Given the description of an element on the screen output the (x, y) to click on. 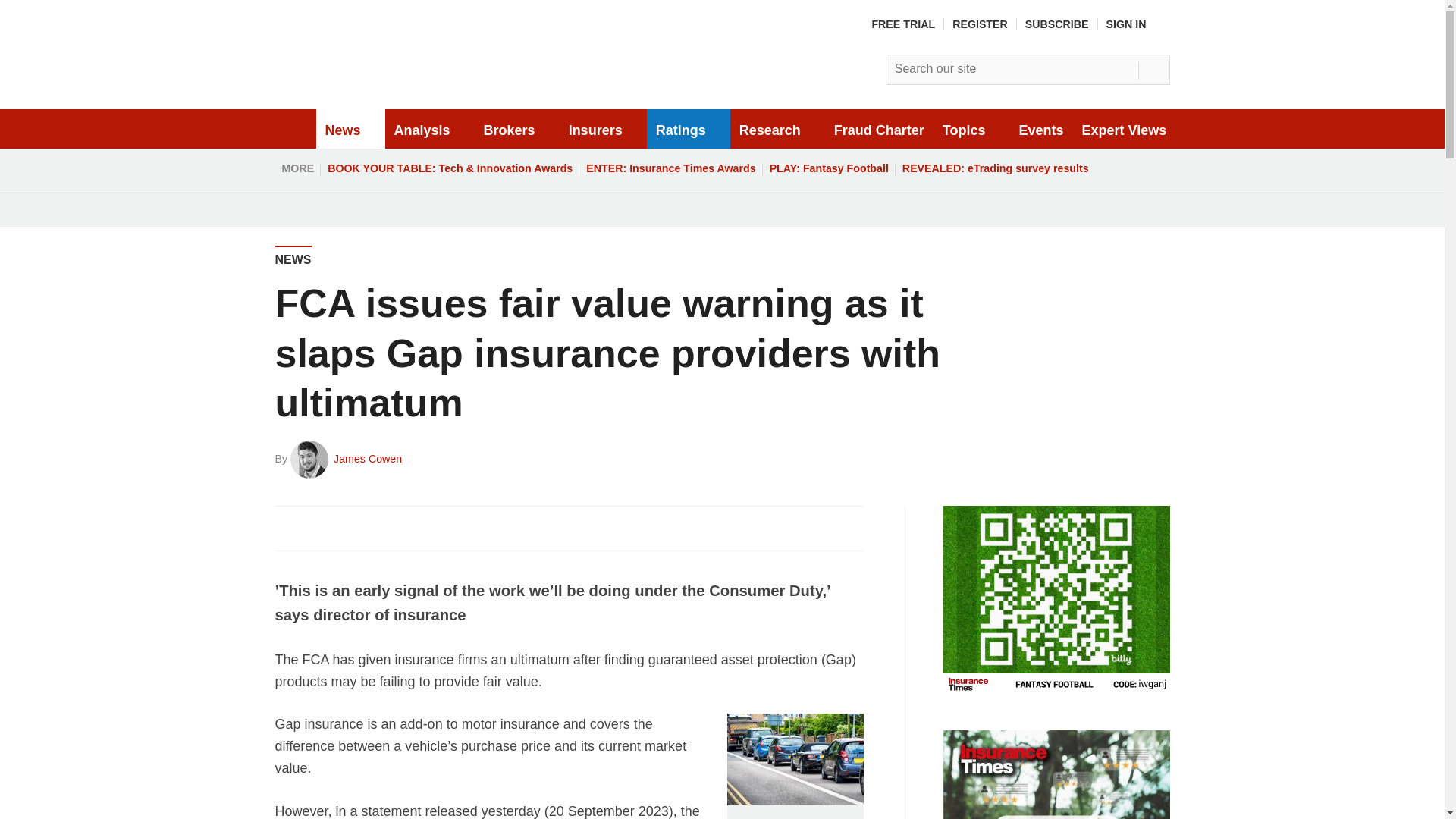
SUBSCRIBE (1057, 24)
Insert Logo text (393, 90)
Share this on Twitter (320, 527)
Email this article (386, 527)
ENTER: Insurance Times Awards (670, 168)
PLAY: Fantasy Football (828, 168)
FREE TRIAL (902, 24)
No comments (840, 536)
Share this on Linked in (352, 527)
SEARCH (1153, 69)
